Given the description of an element on the screen output the (x, y) to click on. 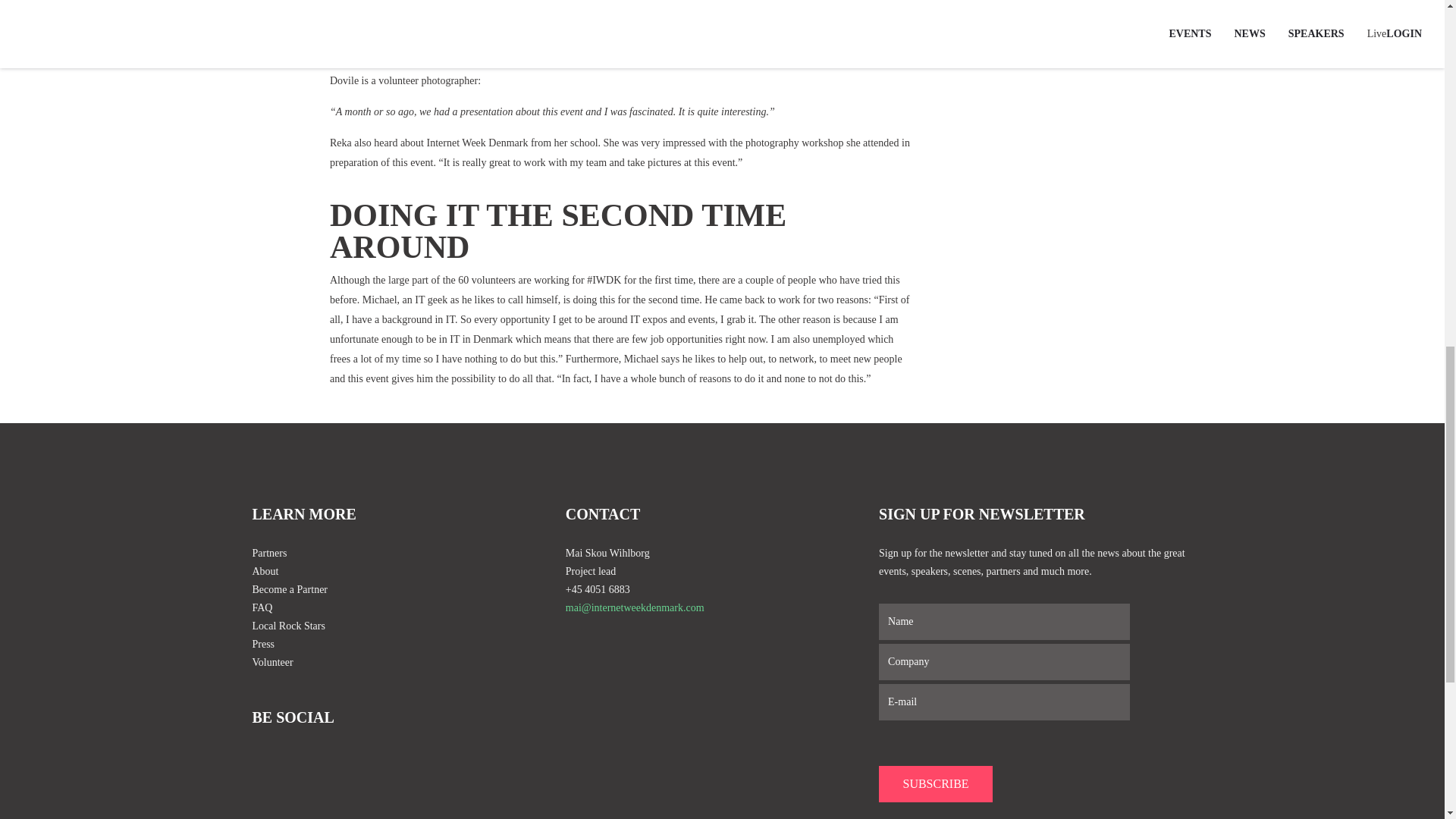
Volunteer (407, 662)
Local Rock Stars (407, 626)
Partners (407, 553)
FAQ (407, 607)
About (407, 571)
Press (407, 644)
Become a Partner (407, 589)
